Given the description of an element on the screen output the (x, y) to click on. 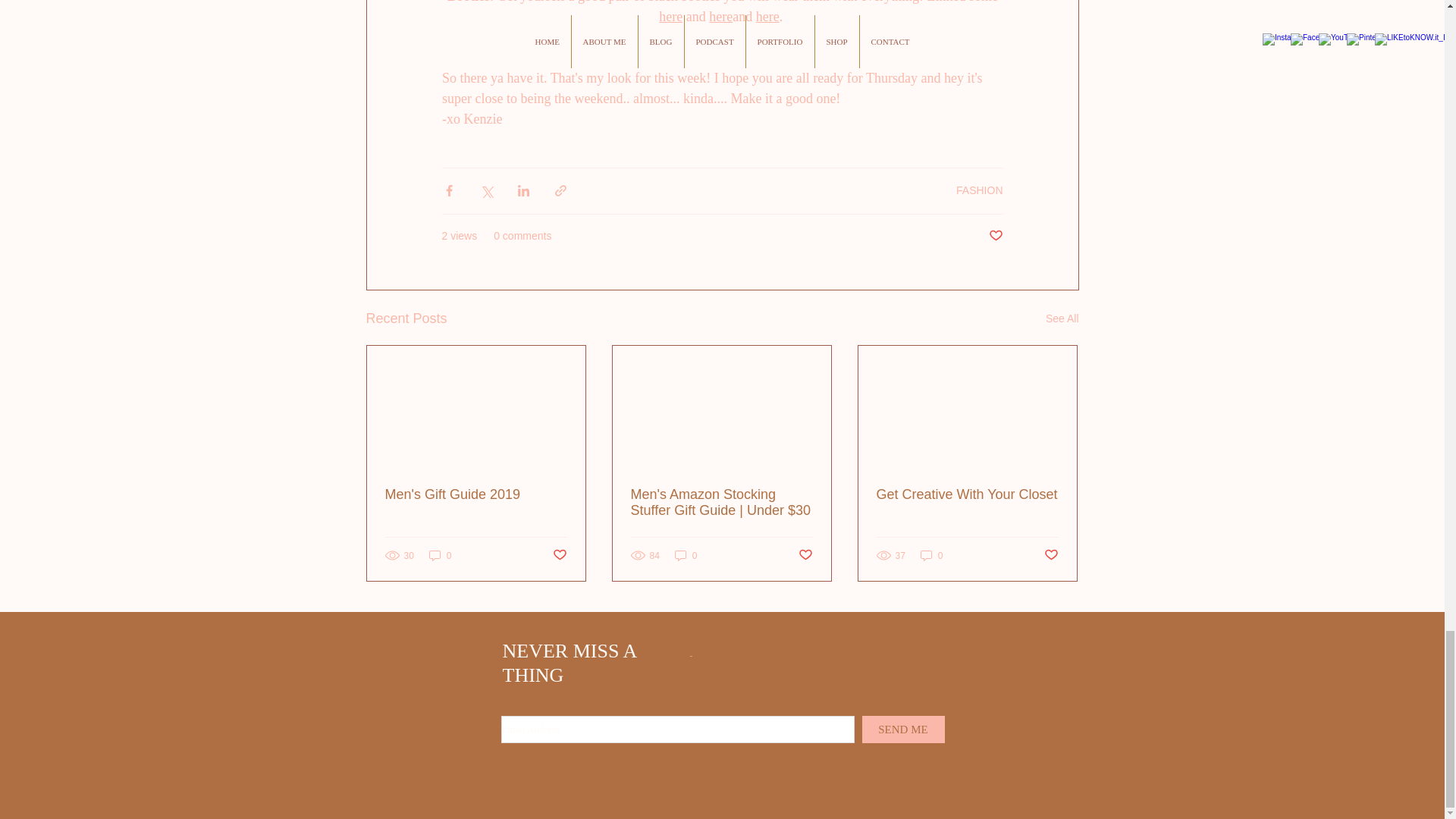
0 (931, 554)
0 (440, 554)
Get Creative With Your Closet (967, 494)
Men's Gift Guide 2019 (476, 494)
Post not marked as liked (995, 236)
See All (1061, 318)
Post not marked as liked (1050, 555)
FASHION (979, 190)
0 (685, 554)
Post not marked as liked (804, 555)
